Given the description of an element on the screen output the (x, y) to click on. 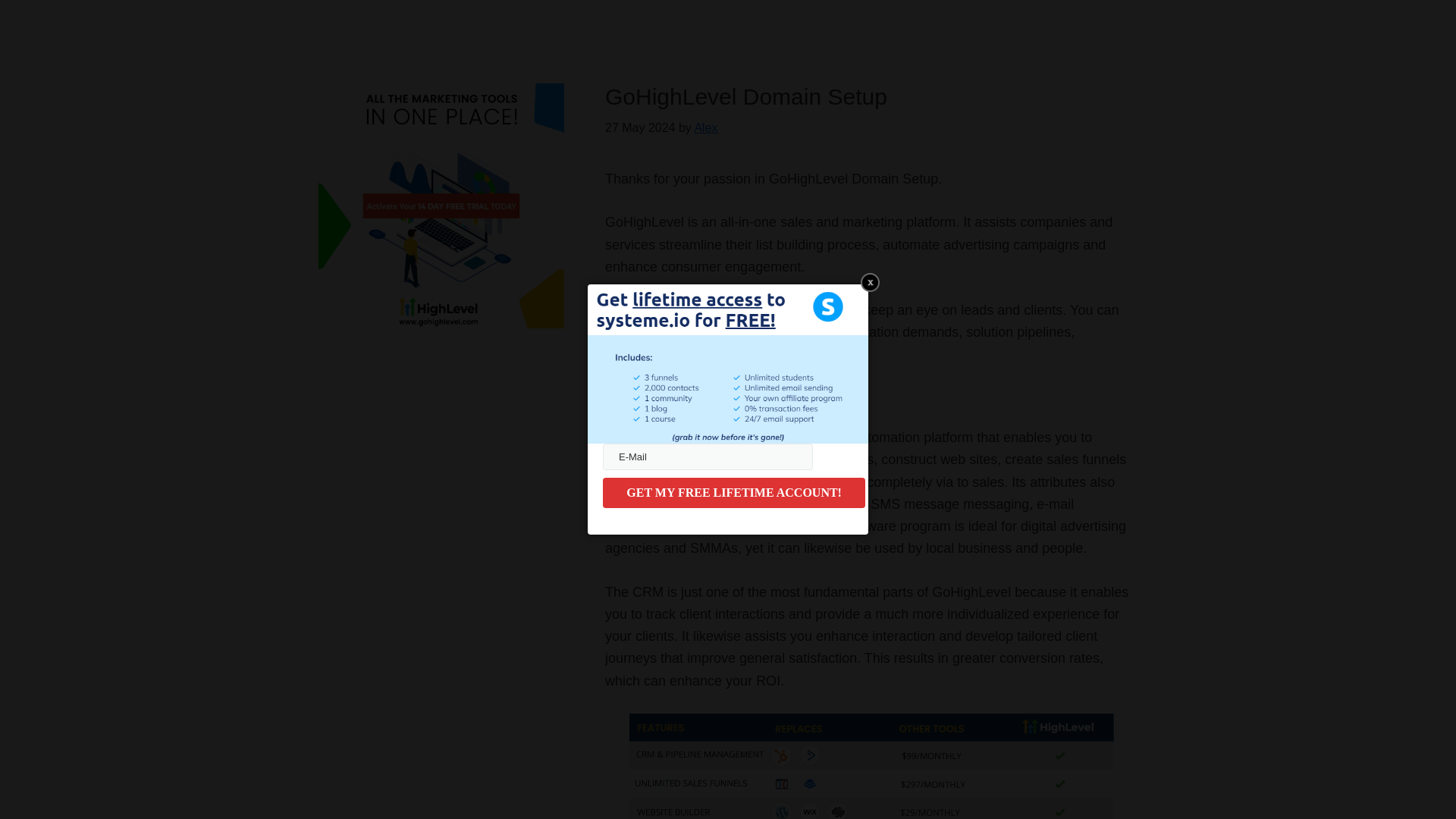
Alex (705, 127)
GET MY FREE LIFETIME ACCOUNT! (733, 492)
GET MY FREE LIFETIME ACCOUNT! (733, 492)
